Given the description of an element on the screen output the (x, y) to click on. 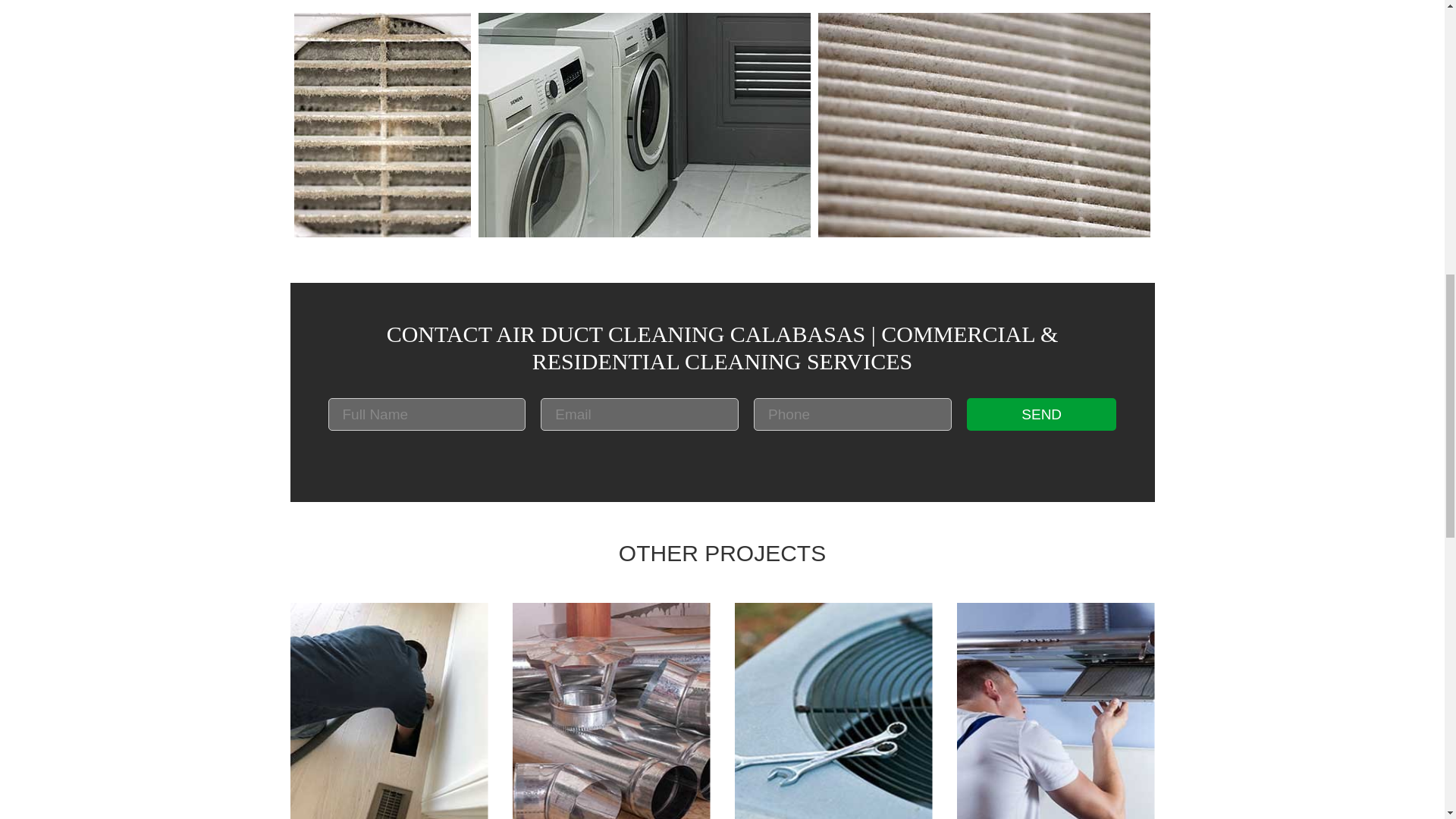
SEND (1041, 414)
QUICK AIR DUCT CLEANING FOR HIDDEN HILLS HOME (388, 710)
KITCHEN EXHAUST HOOD CLEANING, SARATOGA HILLS (1055, 710)
LOCAL VENT REPLACEMENT IN MONTE NIDO (611, 710)
HVAC REPAIR NEAR HIDDEN HILLS (832, 710)
SEND (1041, 414)
